Given the description of an element on the screen output the (x, y) to click on. 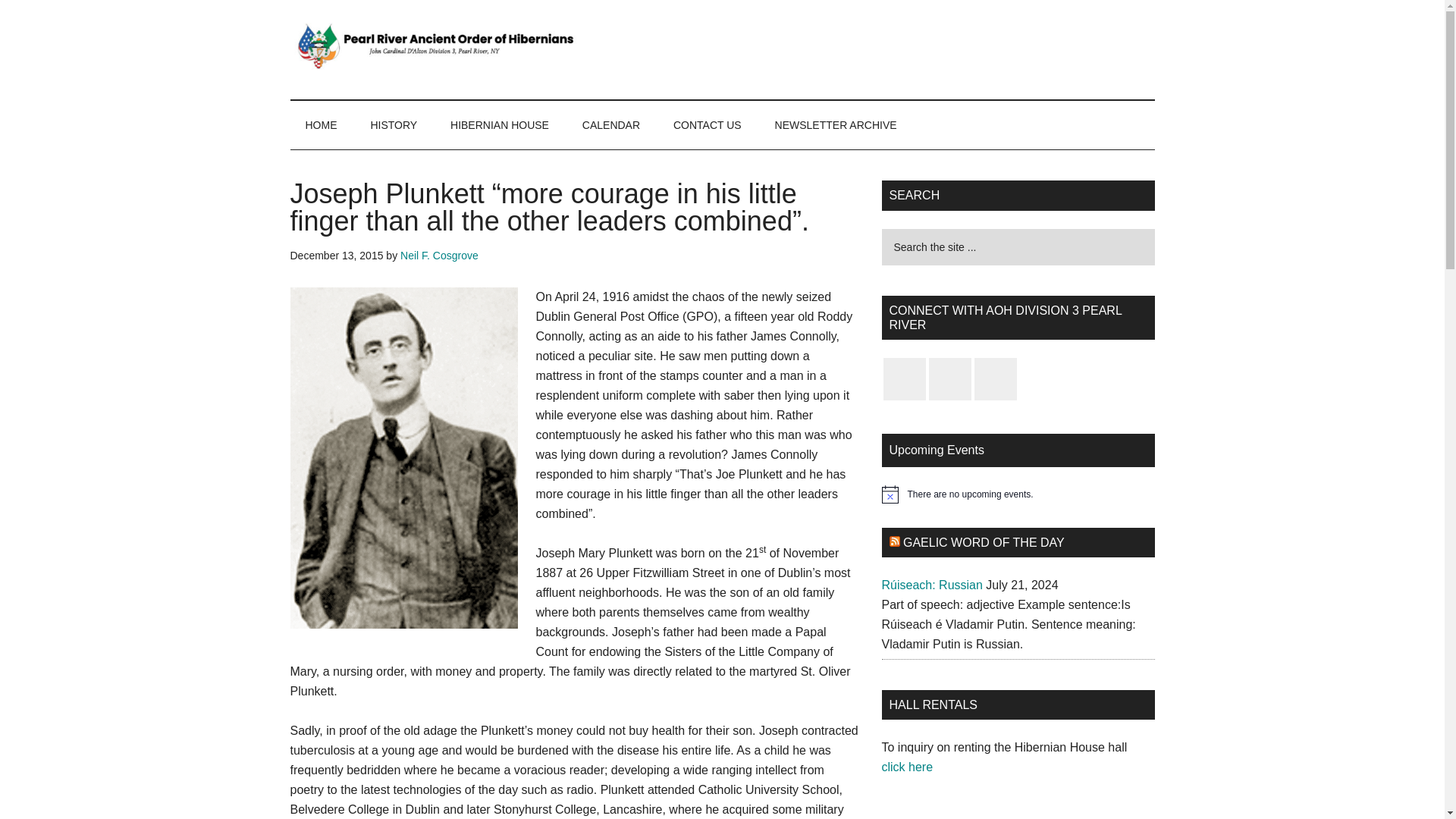
HIBERNIAN HOUSE (499, 124)
CONTACT US (707, 124)
HISTORY (393, 124)
CALENDAR (611, 124)
NEWSLETTER ARCHIVE (836, 124)
click here  (908, 766)
HOME (320, 124)
Neil F. Cosgrove (439, 255)
GAELIC WORD OF THE DAY (983, 542)
